Given the description of an element on the screen output the (x, y) to click on. 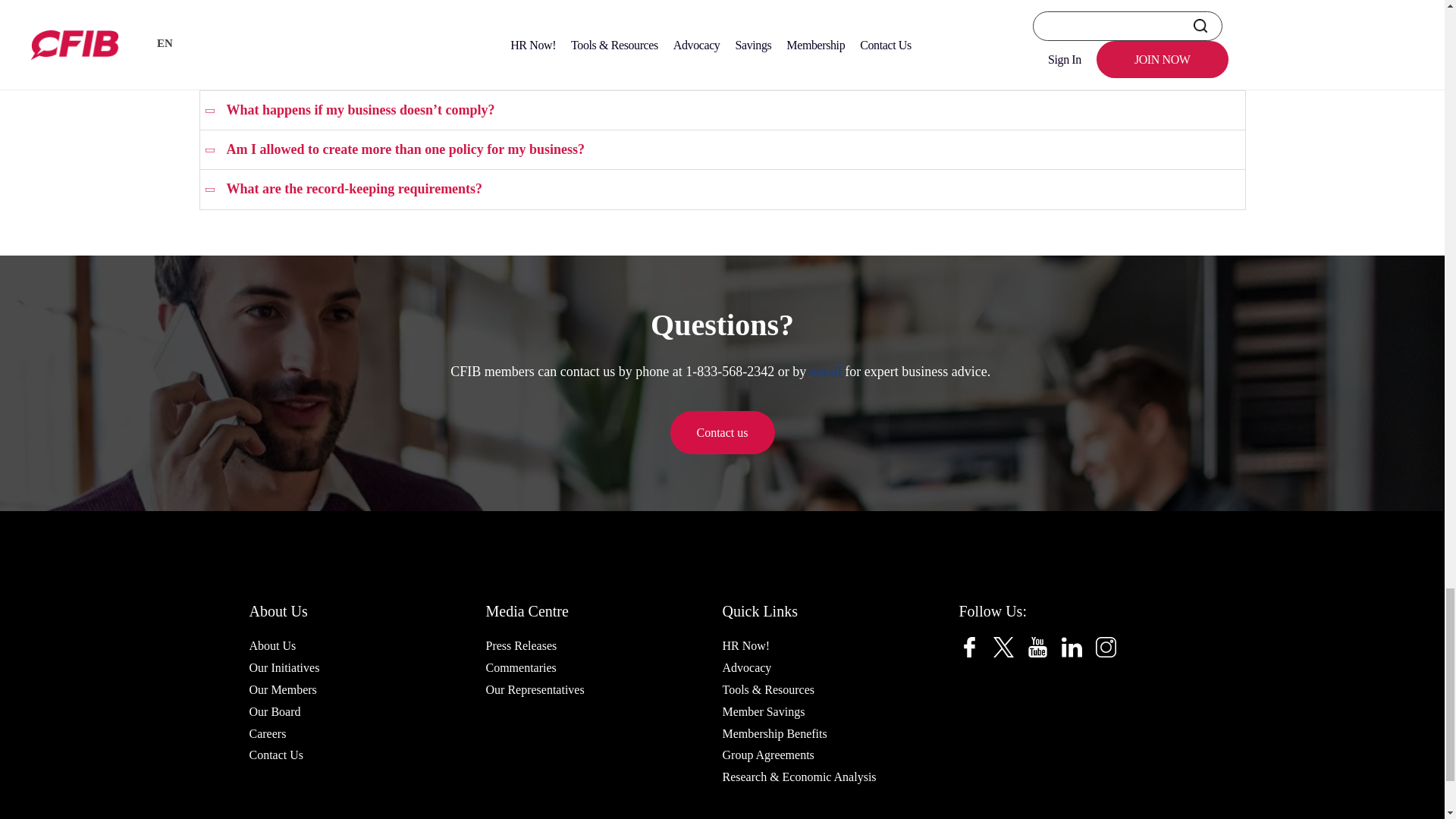
Contact us (721, 433)
About Us (271, 645)
Contact Us (275, 754)
Careers (266, 732)
email (827, 371)
Our Board (273, 711)
Our Members (281, 689)
Press Releases (520, 645)
Our Initiatives (283, 667)
